Given the description of an element on the screen output the (x, y) to click on. 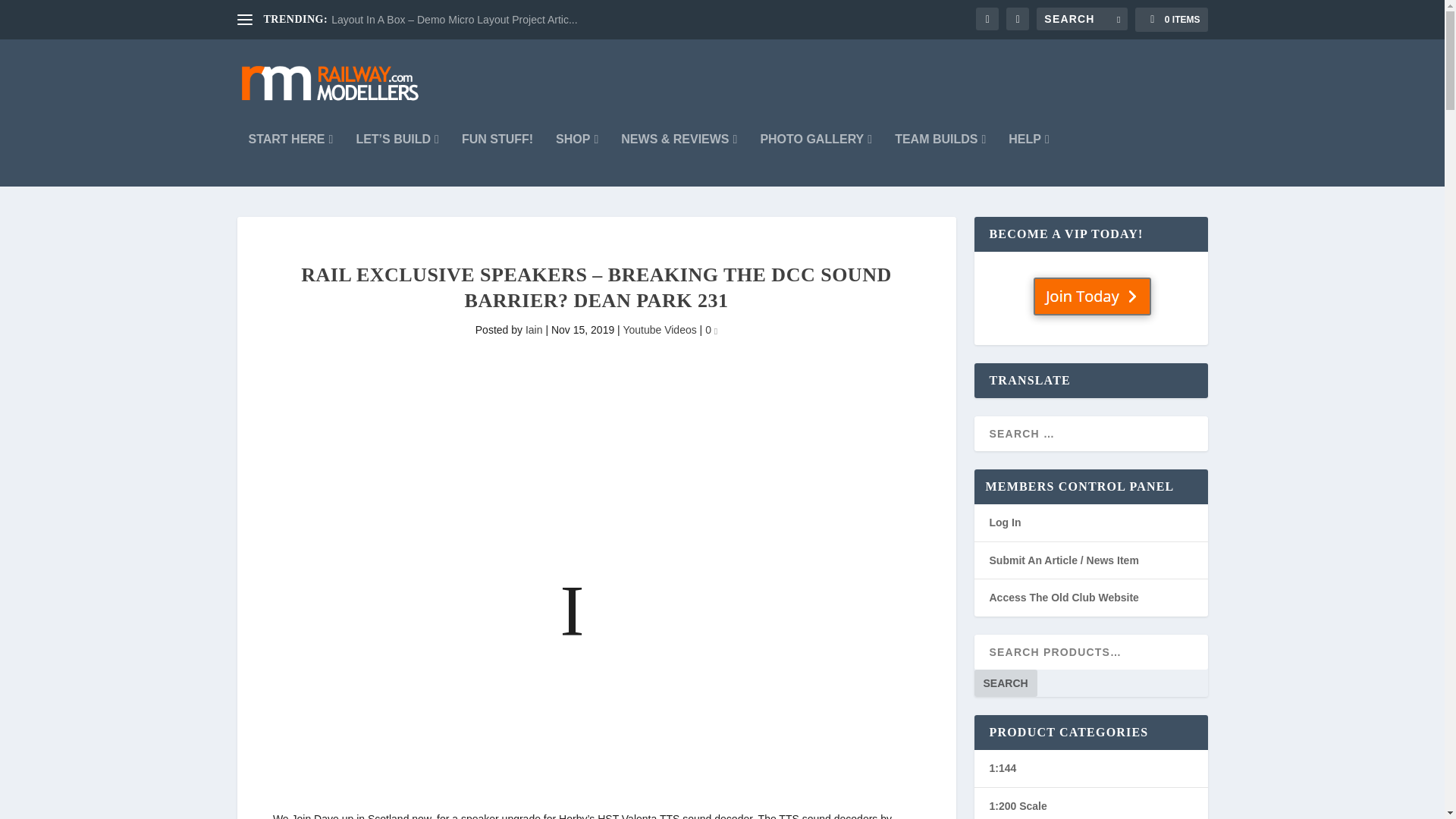
Search for: (1081, 18)
0 Items in Cart (1171, 19)
0 ITEMS (1171, 19)
START HERE (290, 159)
